Given the description of an element on the screen output the (x, y) to click on. 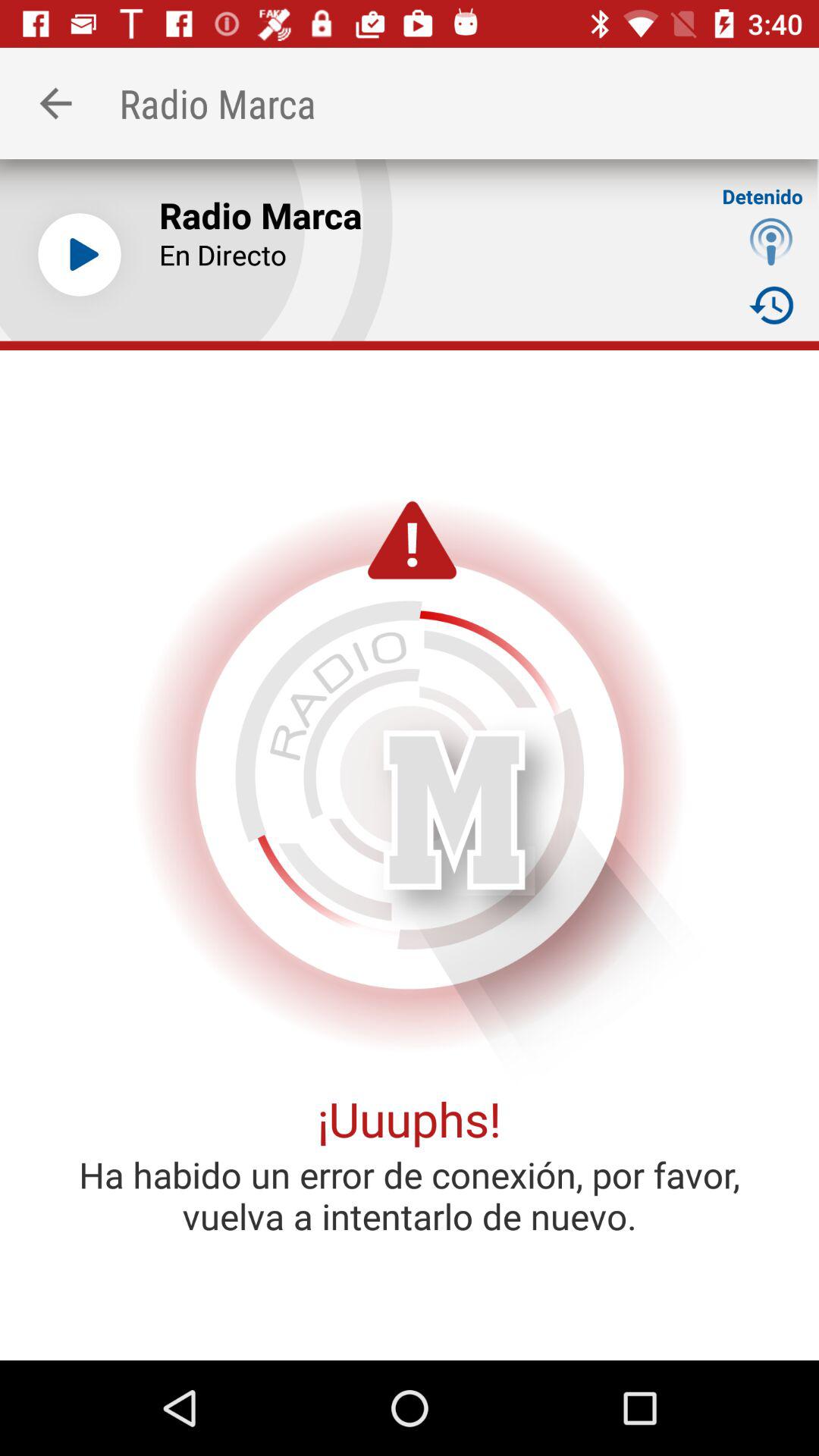
press item next to the radio marca (79, 254)
